Given the description of an element on the screen output the (x, y) to click on. 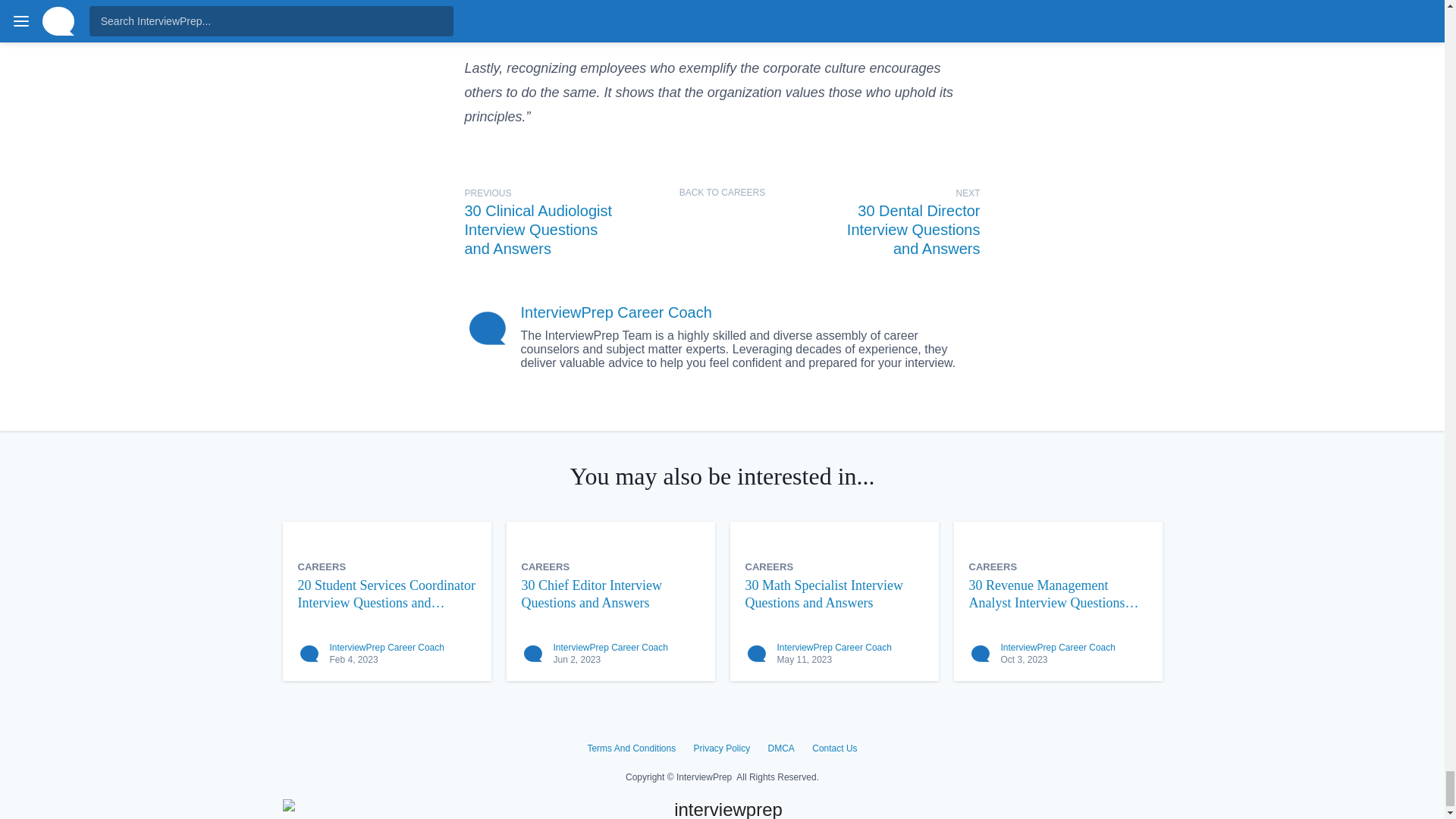
CAREERS (993, 566)
Privacy Policy (721, 747)
CAREERS (321, 566)
InterviewPrep Career Coach (386, 647)
30 Chief Editor Interview Questions and Answers (610, 593)
Contact Us (834, 747)
Terms And Conditions (630, 747)
InterviewPrep Career Coach (1058, 647)
InterviewPrep Career Coach (833, 647)
DMCA (781, 747)
BACK TO CAREERS (722, 192)
InterviewPrep Career Coach (615, 312)
CAREERS (768, 566)
